Given the description of an element on the screen output the (x, y) to click on. 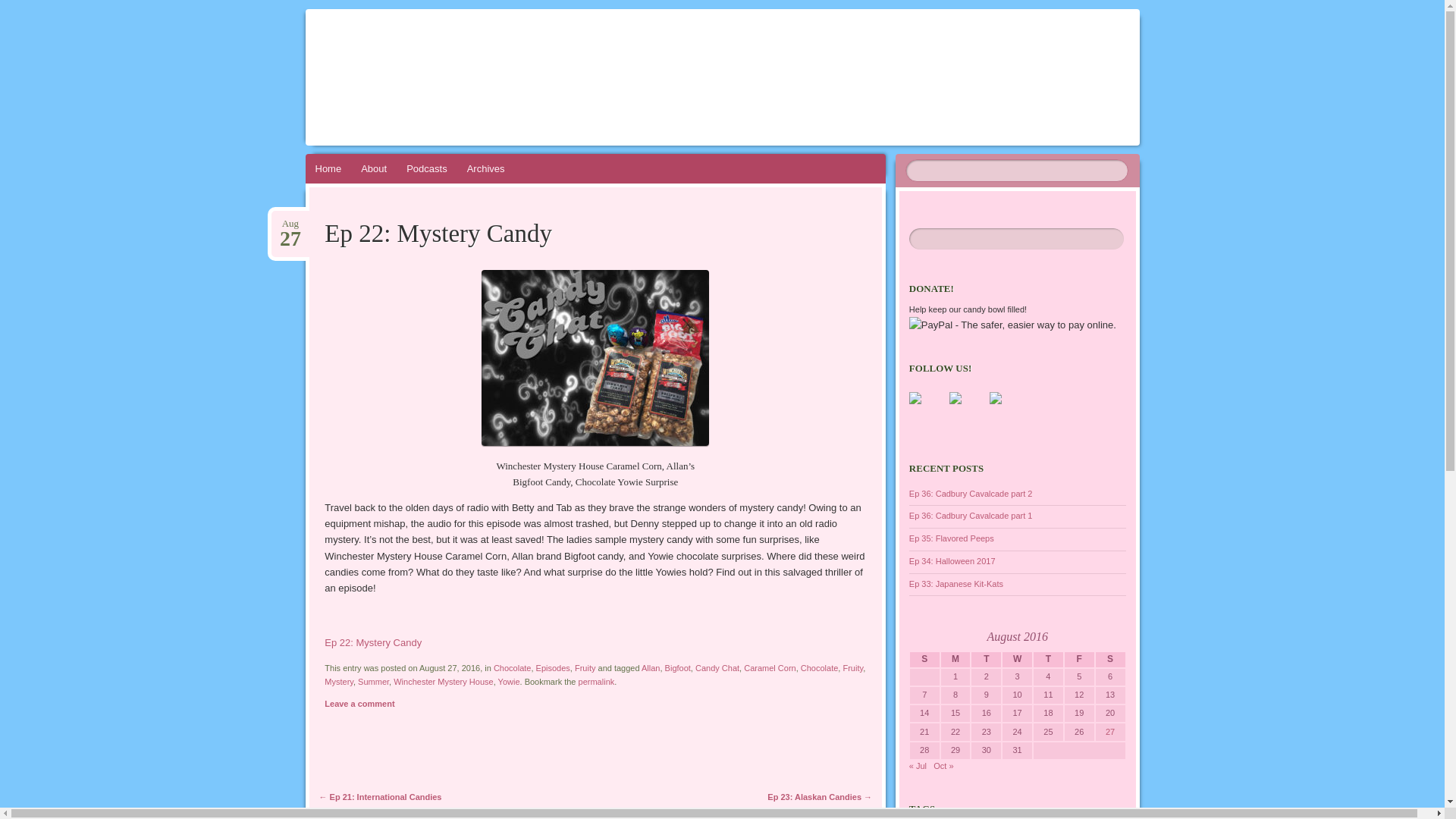
Archives (486, 168)
August 27, 2016 (289, 223)
permalink (596, 681)
Summer (373, 681)
Winchester Mystery House (443, 681)
Fruity (585, 667)
Follow us on Facebook (926, 410)
Chocolate (819, 667)
Ep 22: Mystery Candy (373, 642)
Subscribe to our RSS Feed (995, 398)
